Given the description of an element on the screen output the (x, y) to click on. 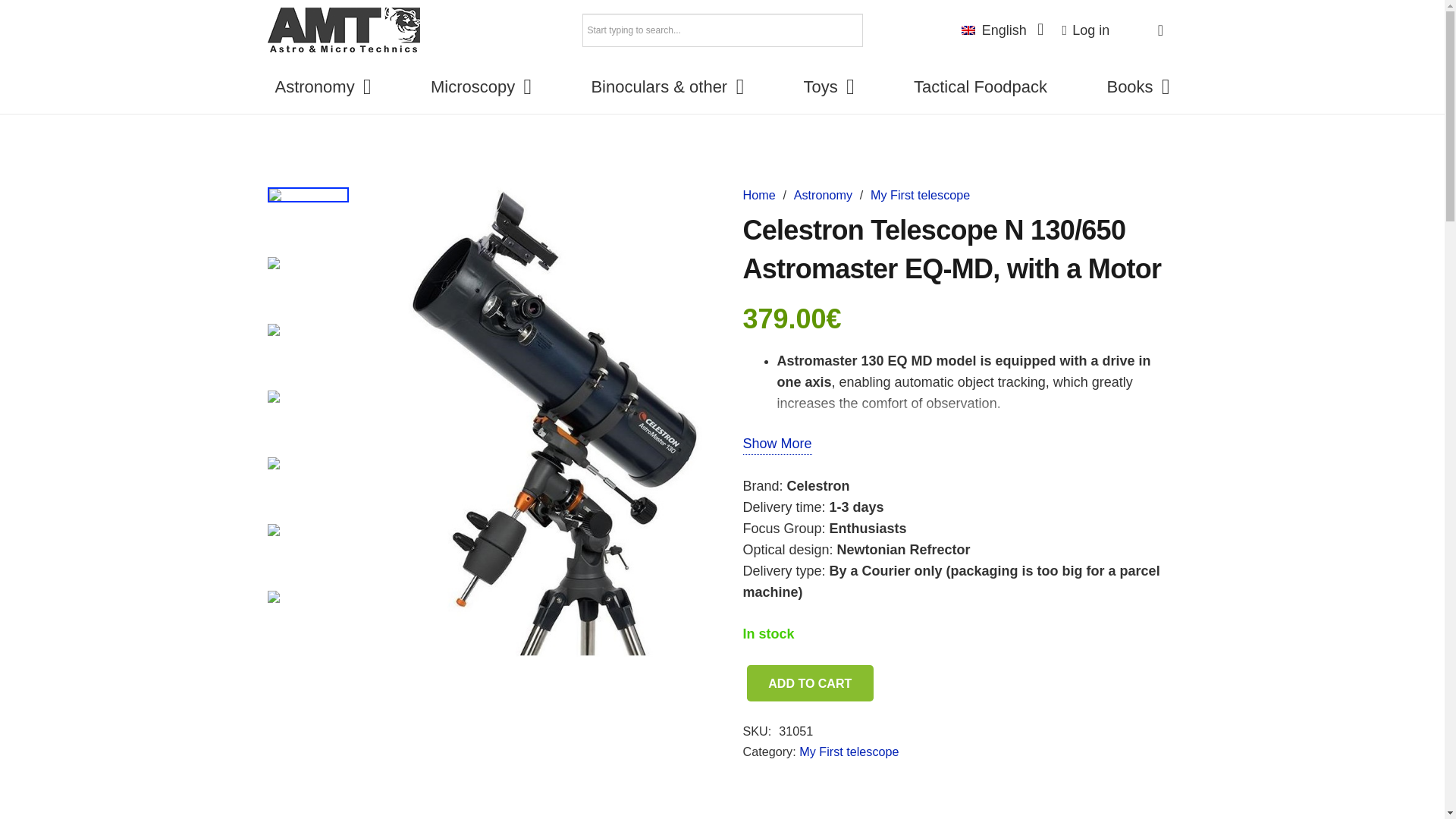
Books (1137, 86)
Log in (1085, 29)
Toys (827, 86)
Astronomy (322, 86)
Microscopy (480, 86)
English (1002, 30)
Tactical Foodpack (979, 86)
